Given the description of an element on the screen output the (x, y) to click on. 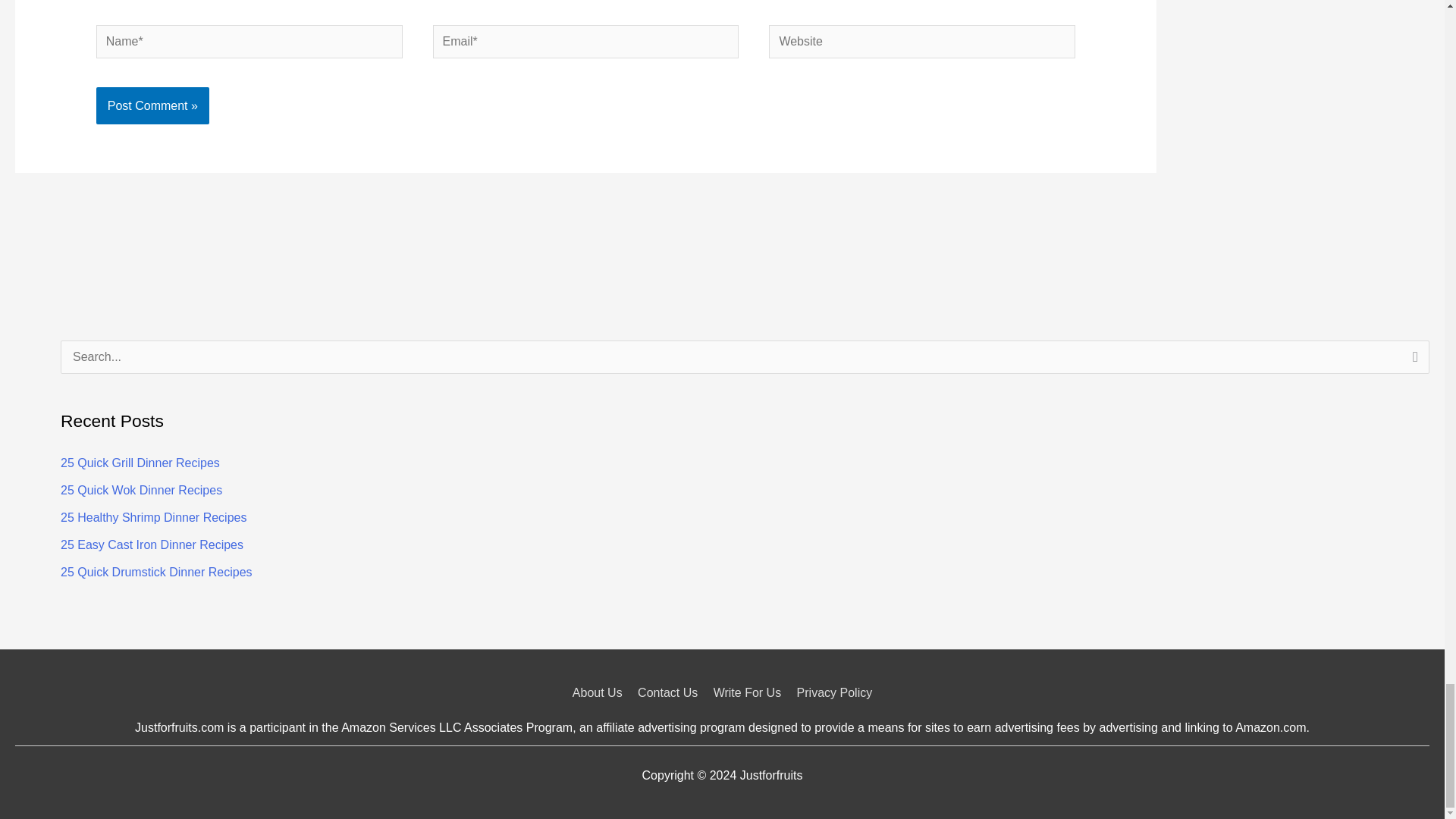
Search (1411, 361)
Search (1411, 361)
